Given the description of an element on the screen output the (x, y) to click on. 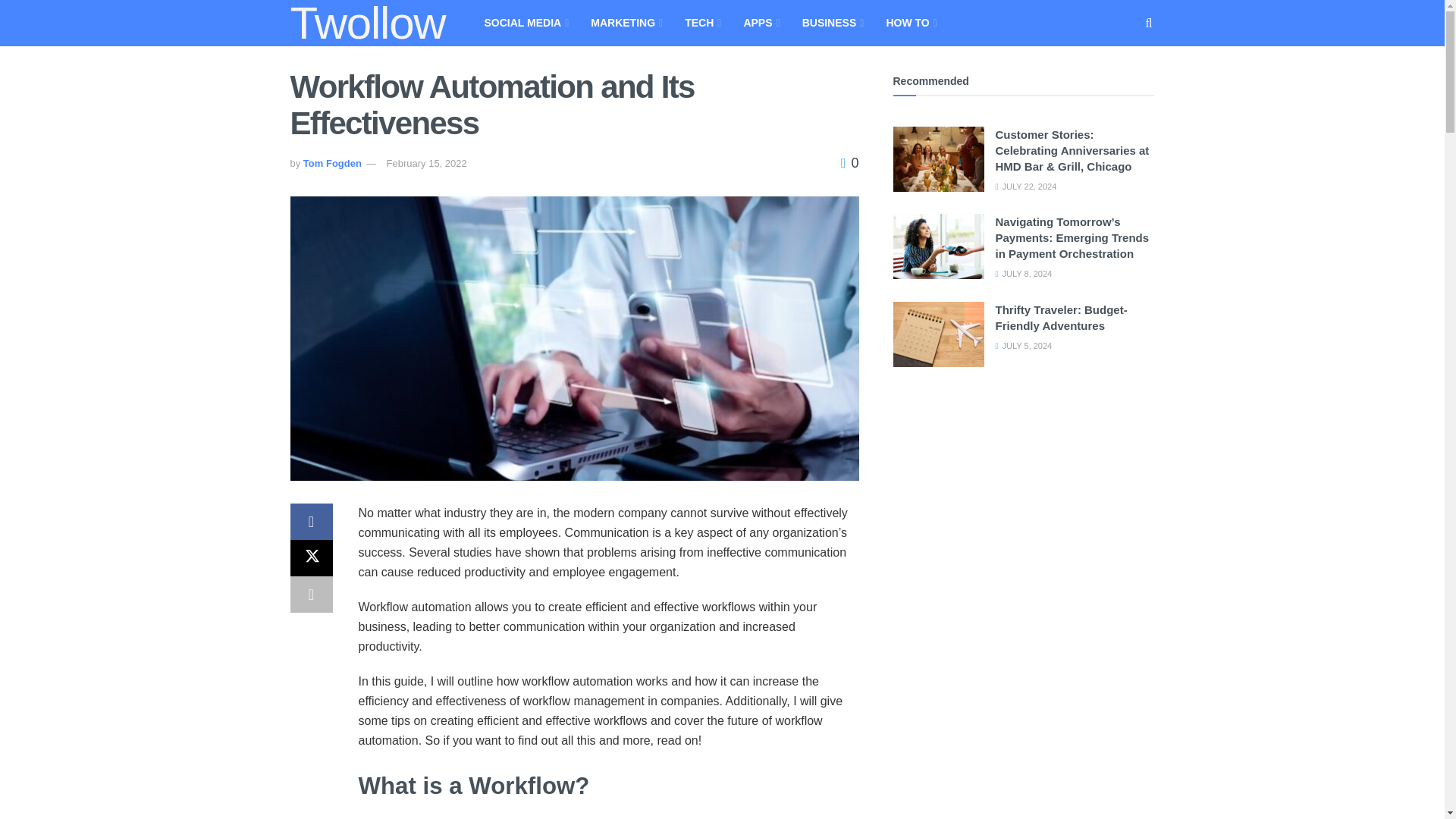
Twollow (367, 22)
SOCIAL MEDIA (524, 22)
MARKETING (625, 22)
